Given the description of an element on the screen output the (x, y) to click on. 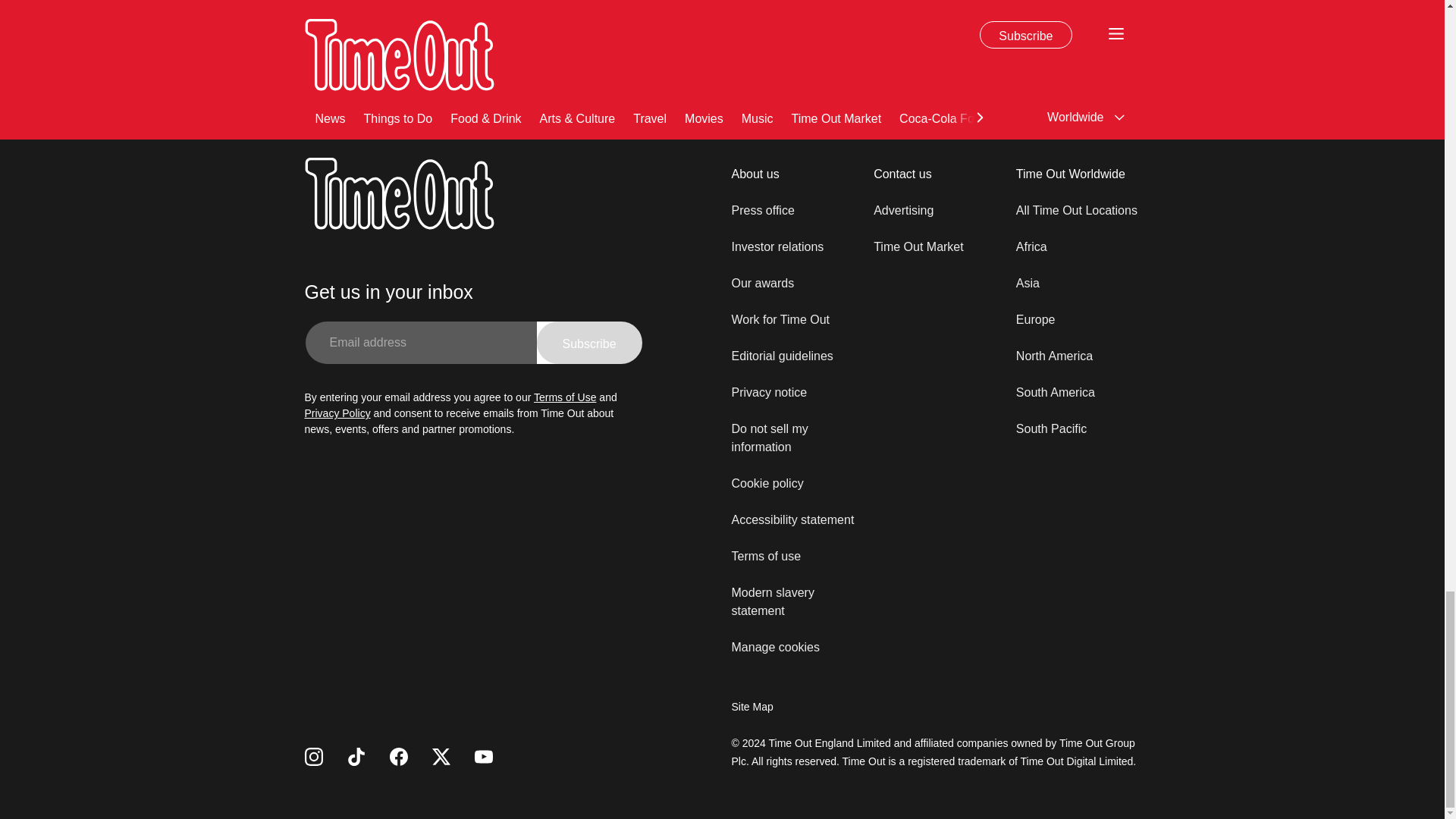
Subscribe (589, 342)
